Given the description of an element on the screen output the (x, y) to click on. 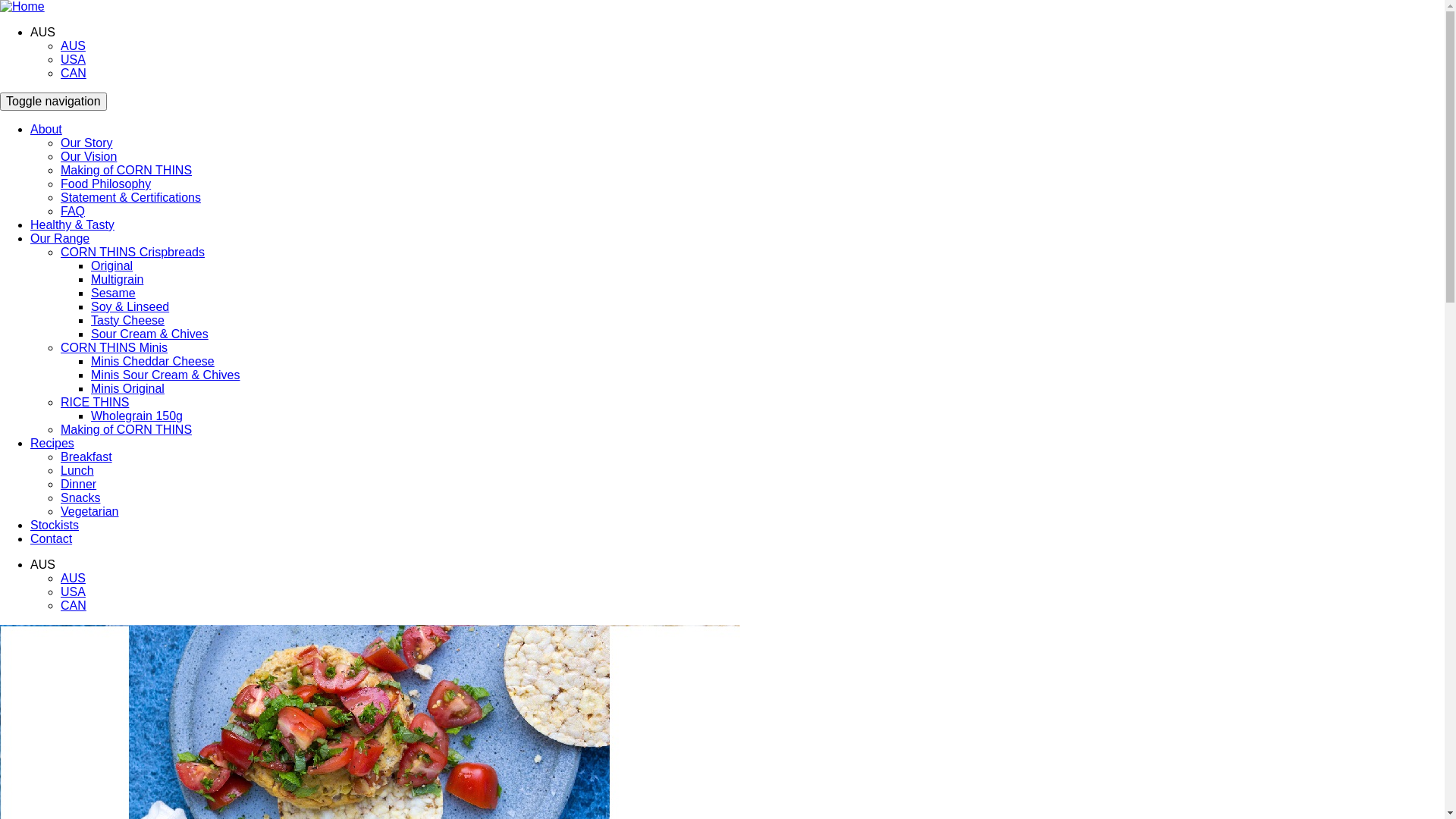
AUS Element type: text (72, 45)
Minis Sour Cream & Chives Element type: text (165, 374)
Making of CORN THINS Element type: text (125, 169)
Minis Original Element type: text (127, 388)
USA Element type: text (72, 591)
Sour Cream & Chives Element type: text (149, 333)
FAQ Element type: text (72, 210)
Our Range Element type: text (59, 238)
RICE THINS Element type: text (94, 401)
Recipes Element type: text (52, 442)
Soy & Linseed Element type: text (130, 306)
Making of CORN THINS Element type: text (125, 429)
Sesame Element type: text (113, 292)
Breakfast Element type: text (86, 456)
Original Element type: text (111, 265)
AUS Element type: text (72, 577)
Skip to main content Element type: text (0, 0)
Food Philosophy Element type: text (105, 183)
Tasty Cheese Element type: text (127, 319)
USA Element type: text (72, 59)
Toggle navigation Element type: text (53, 101)
Statement & Certifications Element type: text (130, 197)
Contact Element type: text (51, 538)
Snacks Element type: text (80, 497)
Our Story Element type: text (86, 142)
Home Element type: hover (22, 6)
CAN Element type: text (73, 605)
About Element type: text (46, 128)
CORN THINS Crispbreads Element type: text (132, 251)
Vegetarian Element type: text (89, 511)
Stockists Element type: text (54, 524)
Dinner Element type: text (78, 483)
Wholegrain 150g Element type: text (136, 415)
Healthy & Tasty Element type: text (72, 224)
Our Vision Element type: text (88, 156)
CAN Element type: text (73, 72)
Lunch Element type: text (77, 470)
CORN THINS Minis Element type: text (113, 347)
Multigrain Element type: text (117, 279)
Minis Cheddar Cheese Element type: text (152, 360)
